Given the description of an element on the screen output the (x, y) to click on. 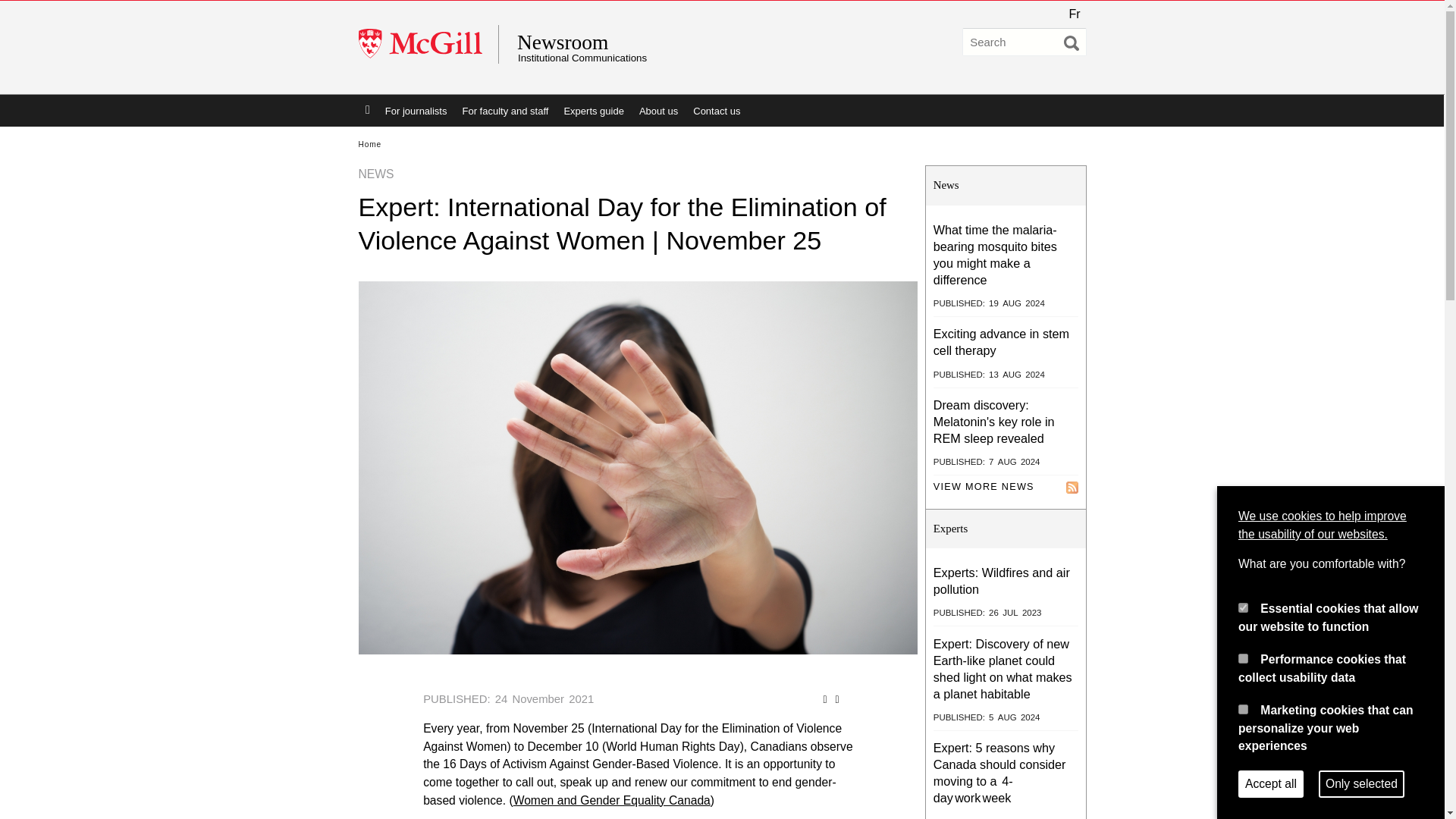
return to McGill University (427, 44)
Contact us (716, 110)
Search (1070, 42)
Exciting advance in stem cell therapy (1000, 341)
About us (658, 110)
McGill University (427, 44)
Search (1070, 42)
Fr (1074, 14)
